Given the description of an element on the screen output the (x, y) to click on. 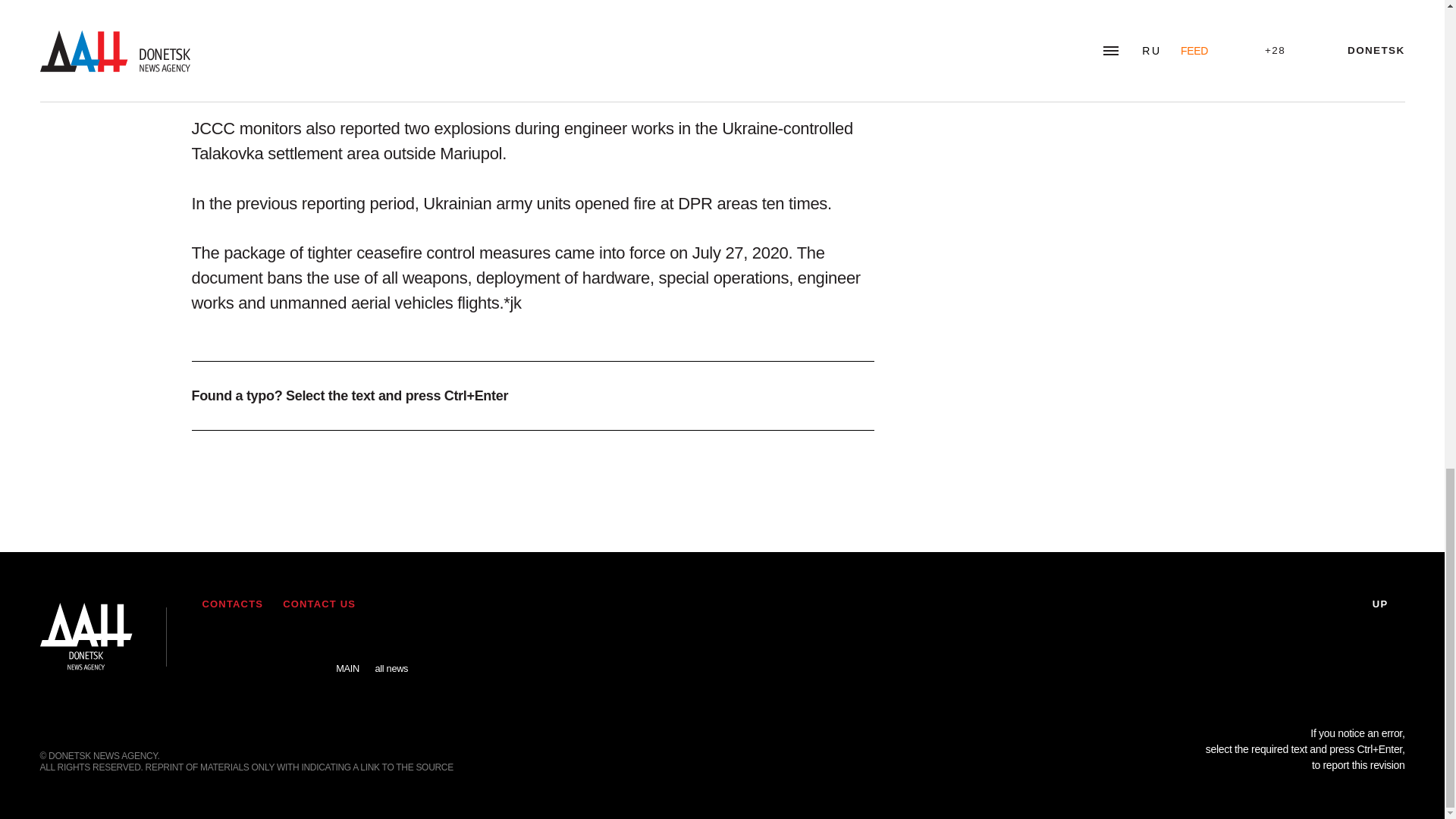
VKontakte (262, 644)
all news (390, 656)
Odnoklassniki (304, 644)
RSS (217, 644)
CONTACTS (232, 603)
UP (1389, 604)
UP (1389, 604)
